Given the description of an element on the screen output the (x, y) to click on. 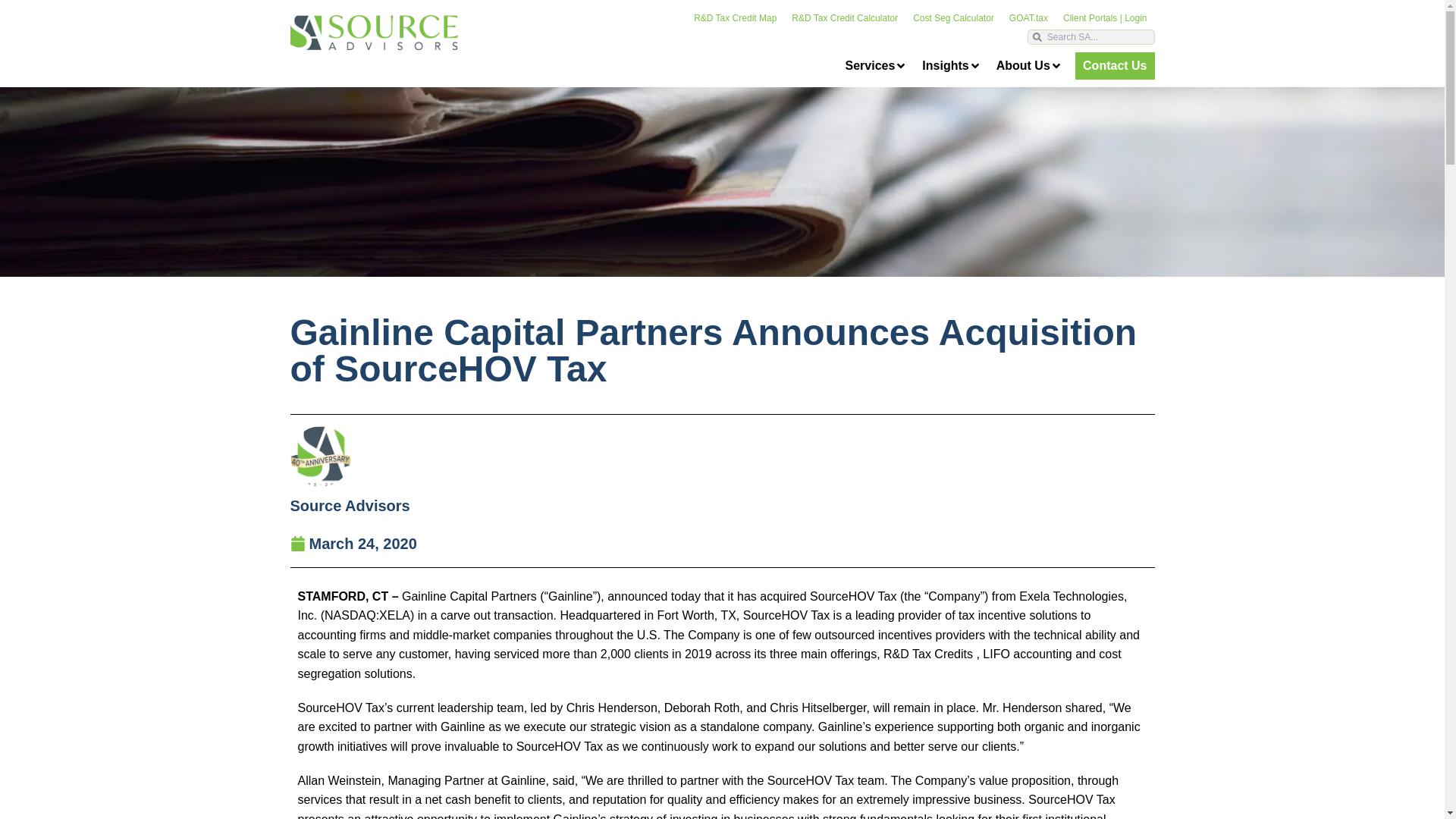
GOAT.tax (1028, 18)
Services (875, 66)
About Us (1028, 66)
Source Advisors (349, 505)
Cost Seg Calculator (953, 18)
Insights (950, 66)
